Given the description of an element on the screen output the (x, y) to click on. 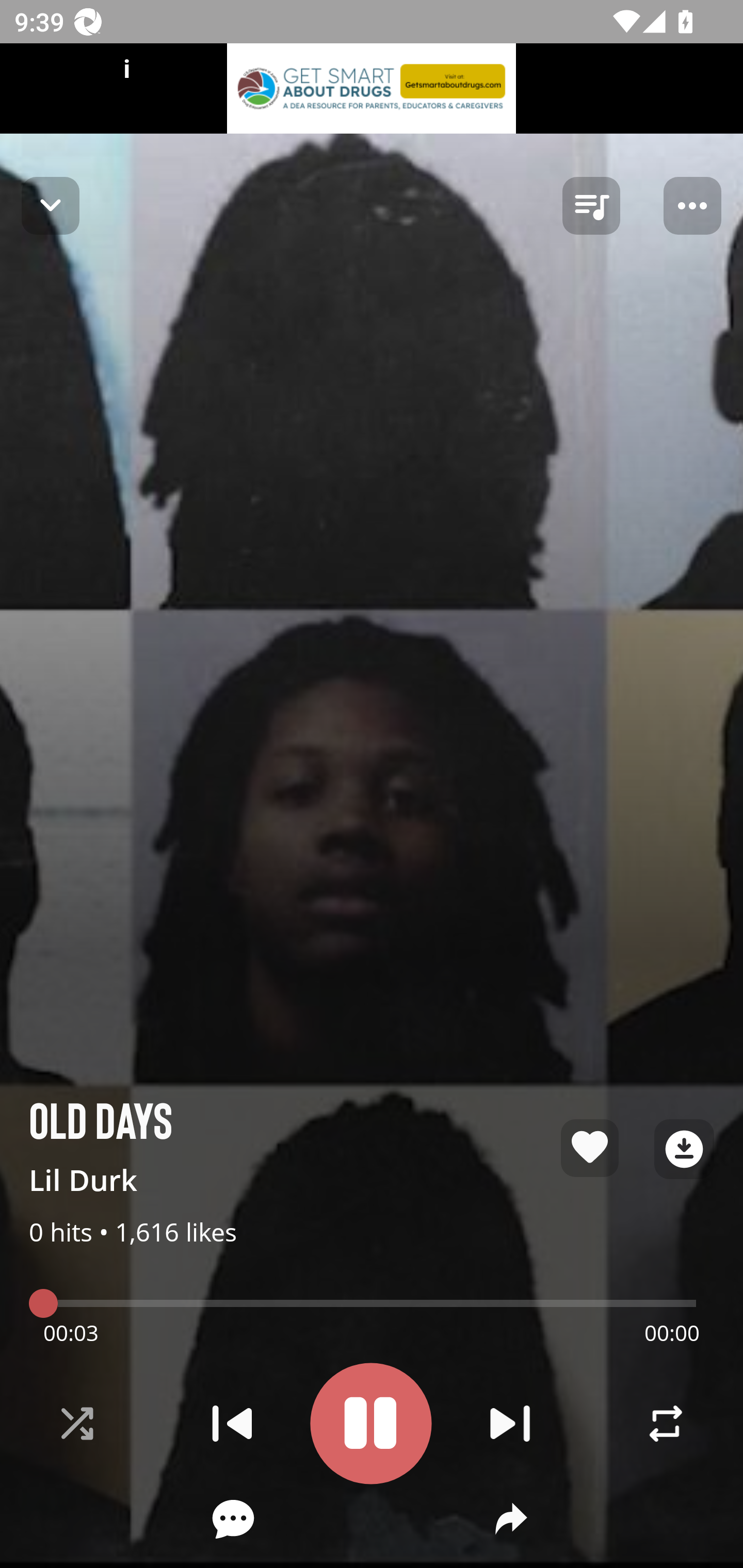
Navigate up (50, 205)
queue (590, 206)
Player options (692, 206)
